Given the description of an element on the screen output the (x, y) to click on. 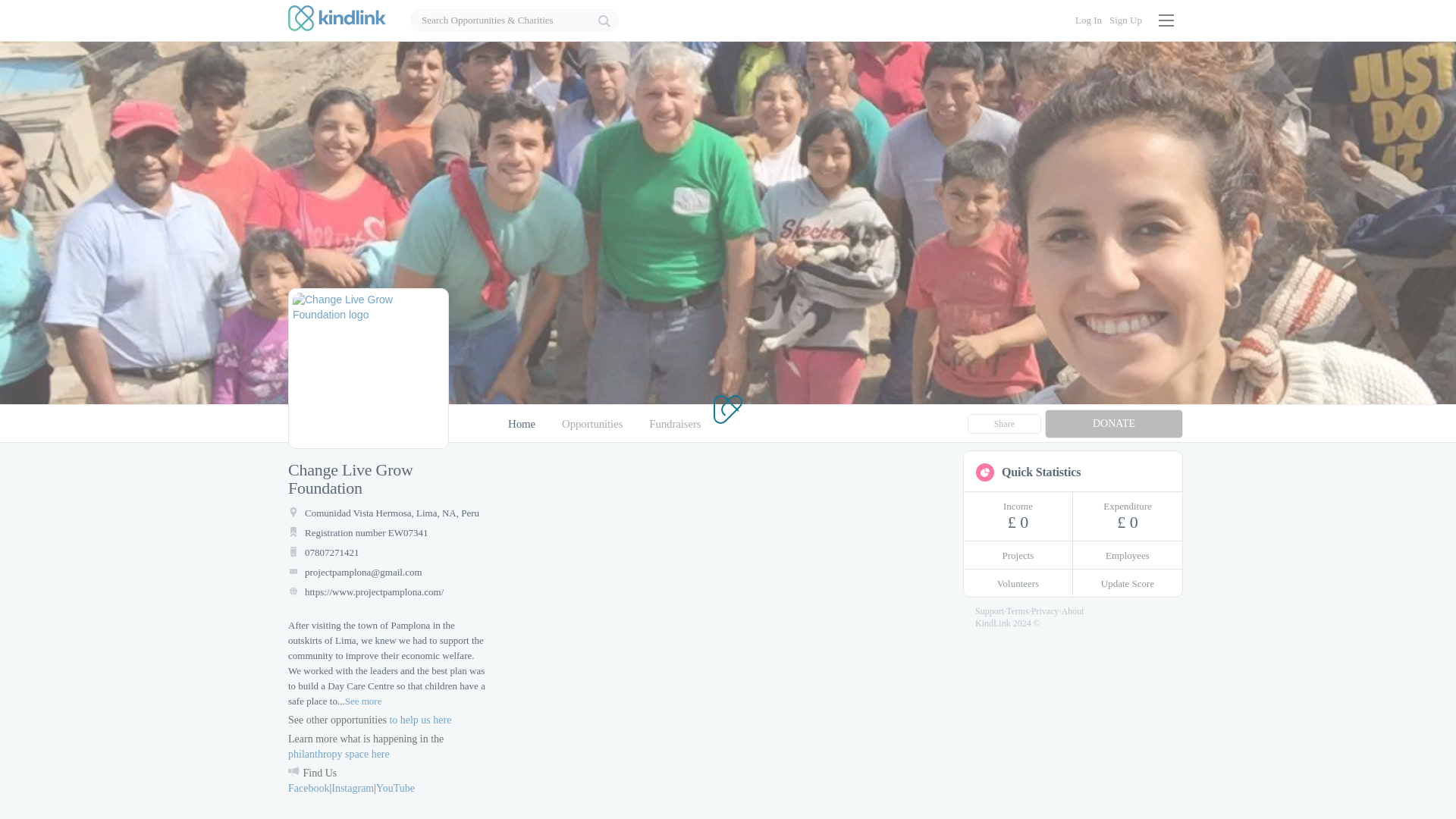
Fundraisers (674, 423)
Support (989, 611)
Log In (1088, 19)
philanthropy space here (339, 754)
go to charity profile page (368, 368)
Privacy (1044, 611)
Sign Up (1125, 19)
to help us here (419, 719)
Facebook (308, 787)
Home (521, 423)
